Given the description of an element on the screen output the (x, y) to click on. 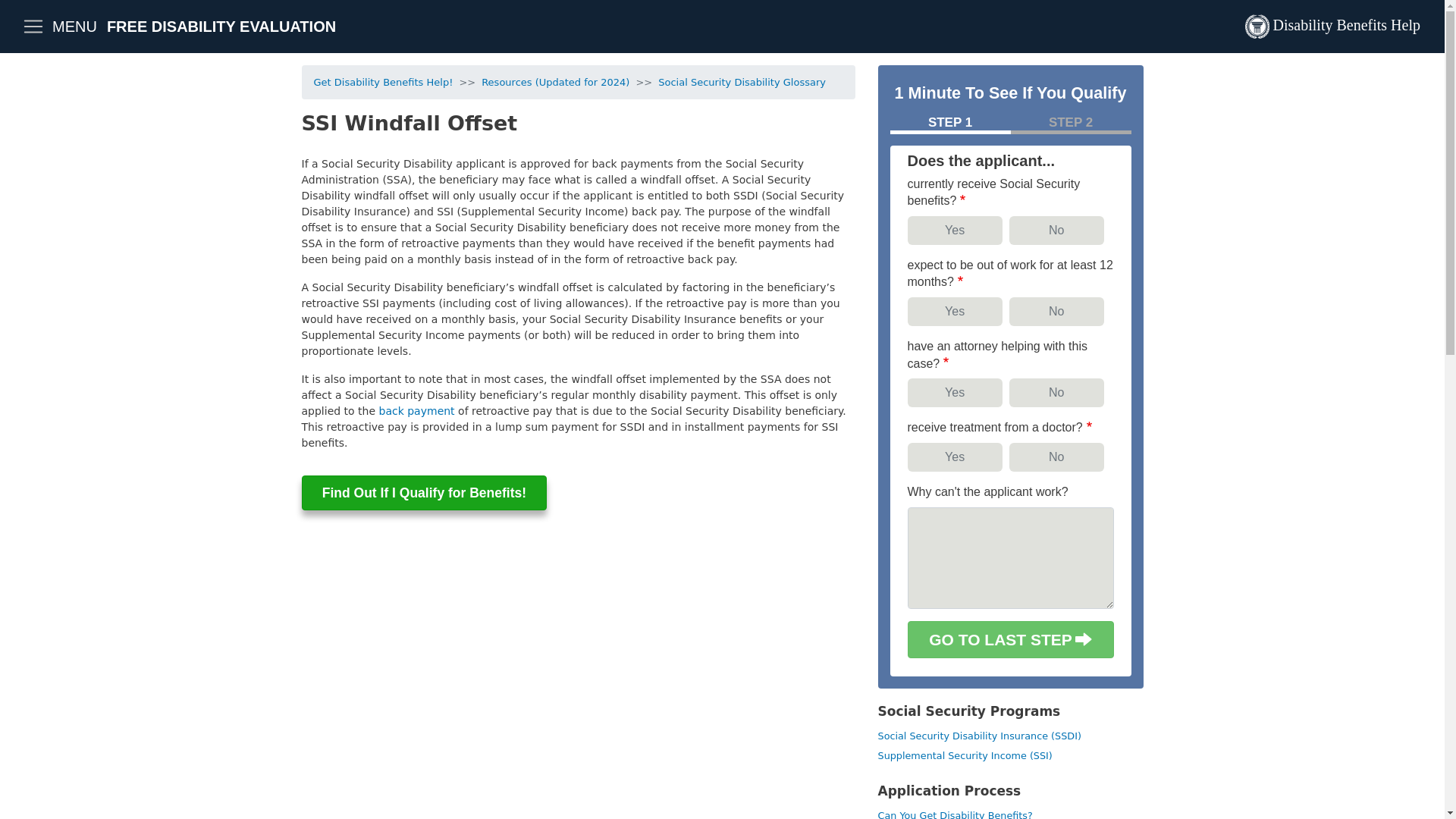
FREE DISABILITY EVALUATION (221, 26)
Disability Benefits Help (1332, 26)
MENU (58, 26)
Skip to main content (721, 1)
Home (1332, 26)
